Given the description of an element on the screen output the (x, y) to click on. 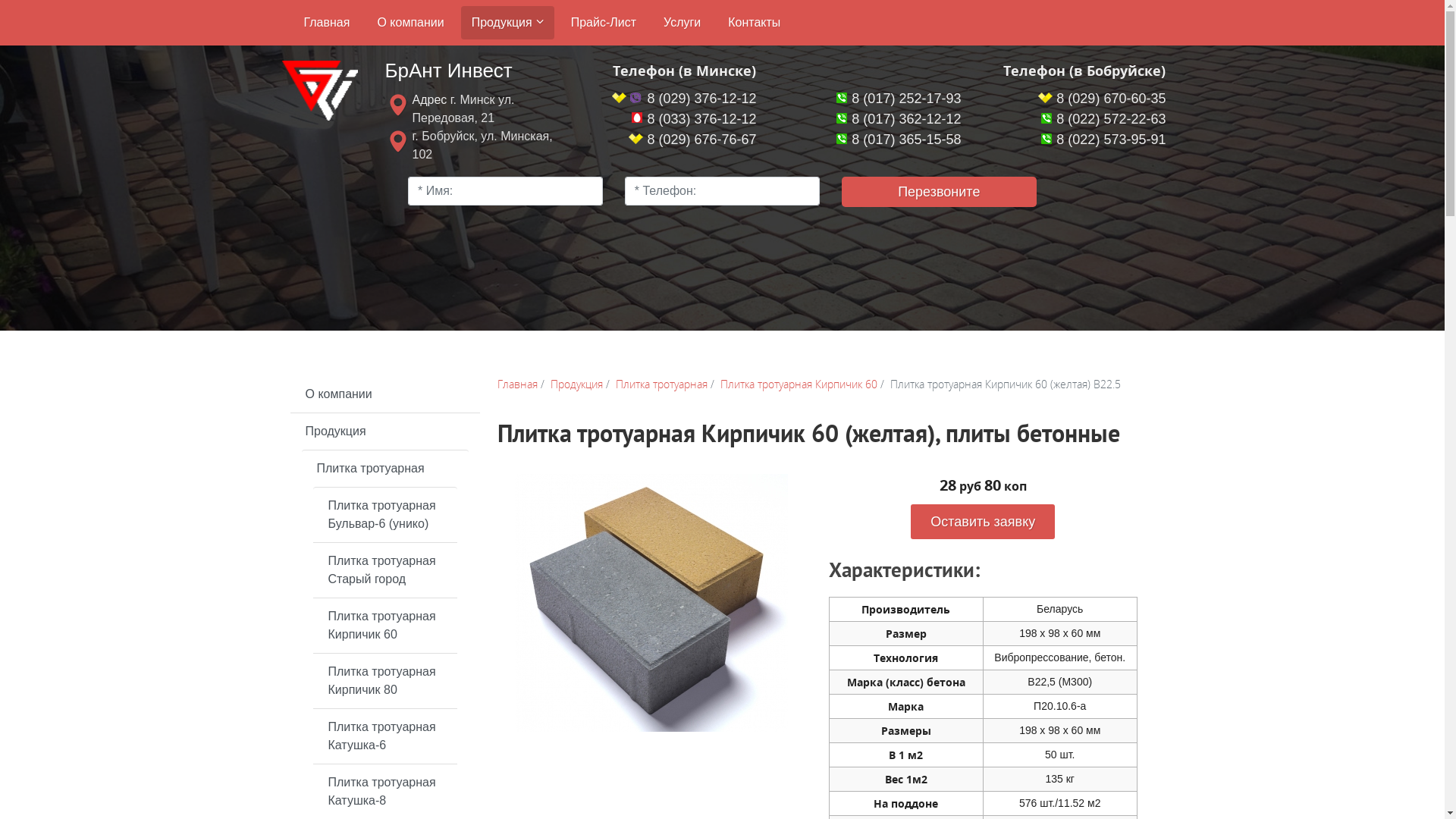
8 (017) 365-15-58 Element type: text (898, 139)
8 (022) 572-22-63 Element type: text (1103, 118)
8 (029) 676-76-67 Element type: text (692, 139)
8 (029) 670-60-35 Element type: text (1101, 98)
8 (033) 376-12-12 Element type: text (693, 118)
8 (022) 573-95-91 Element type: text (1103, 139)
8 (029) 376-12-12 Element type: text (683, 98)
8 (017) 252-17-93 Element type: text (898, 98)
8 (017) 362-12-12 Element type: text (898, 118)
